Given the description of an element on the screen output the (x, y) to click on. 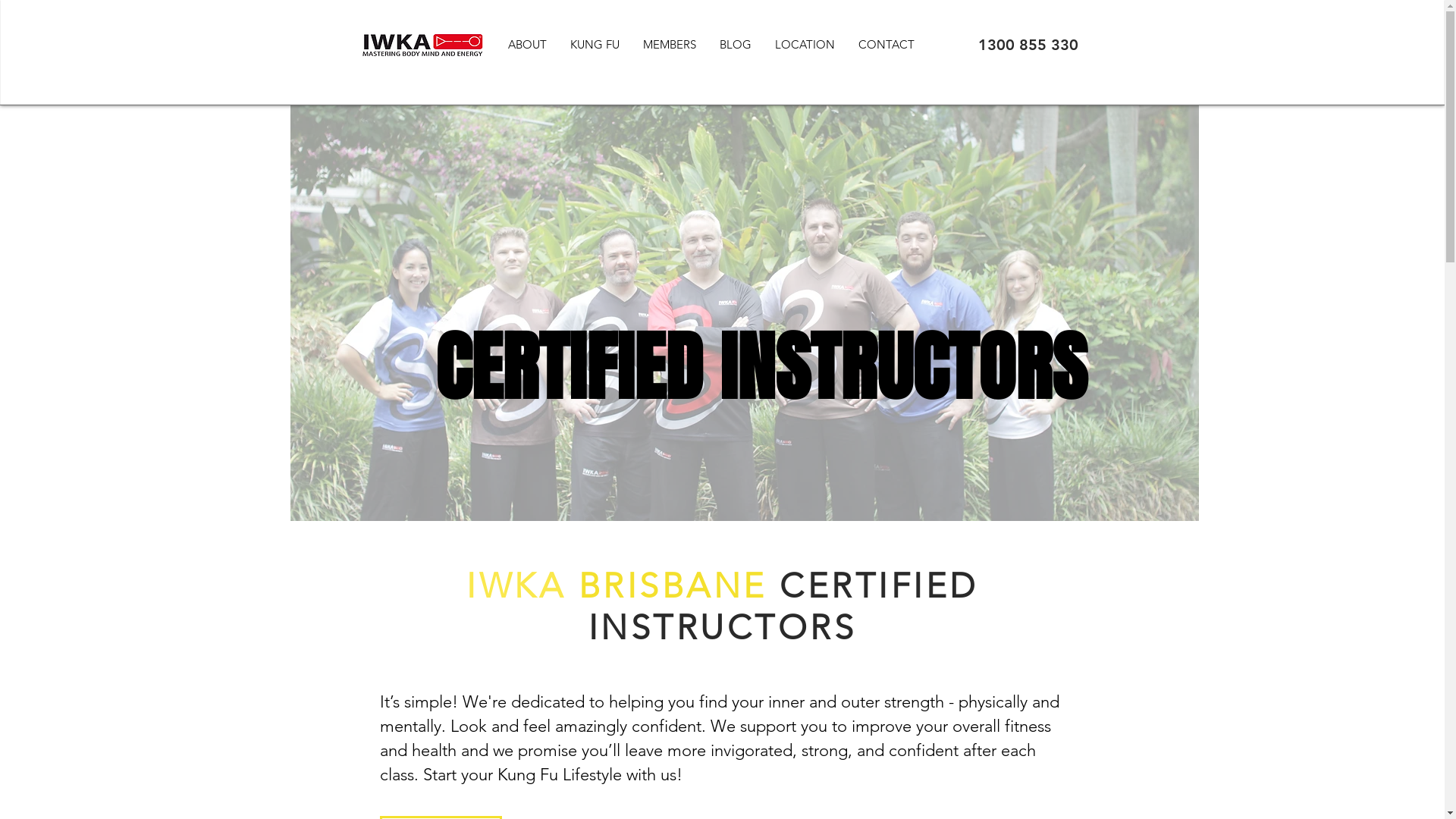
LOCATION Element type: text (804, 44)
KUNG FU Element type: text (594, 44)
1300 855 330 Element type: text (1028, 44)
BLOG Element type: text (734, 44)
CONTACT Element type: text (885, 44)
MEMBERS Element type: text (668, 44)
